Given the description of an element on the screen output the (x, y) to click on. 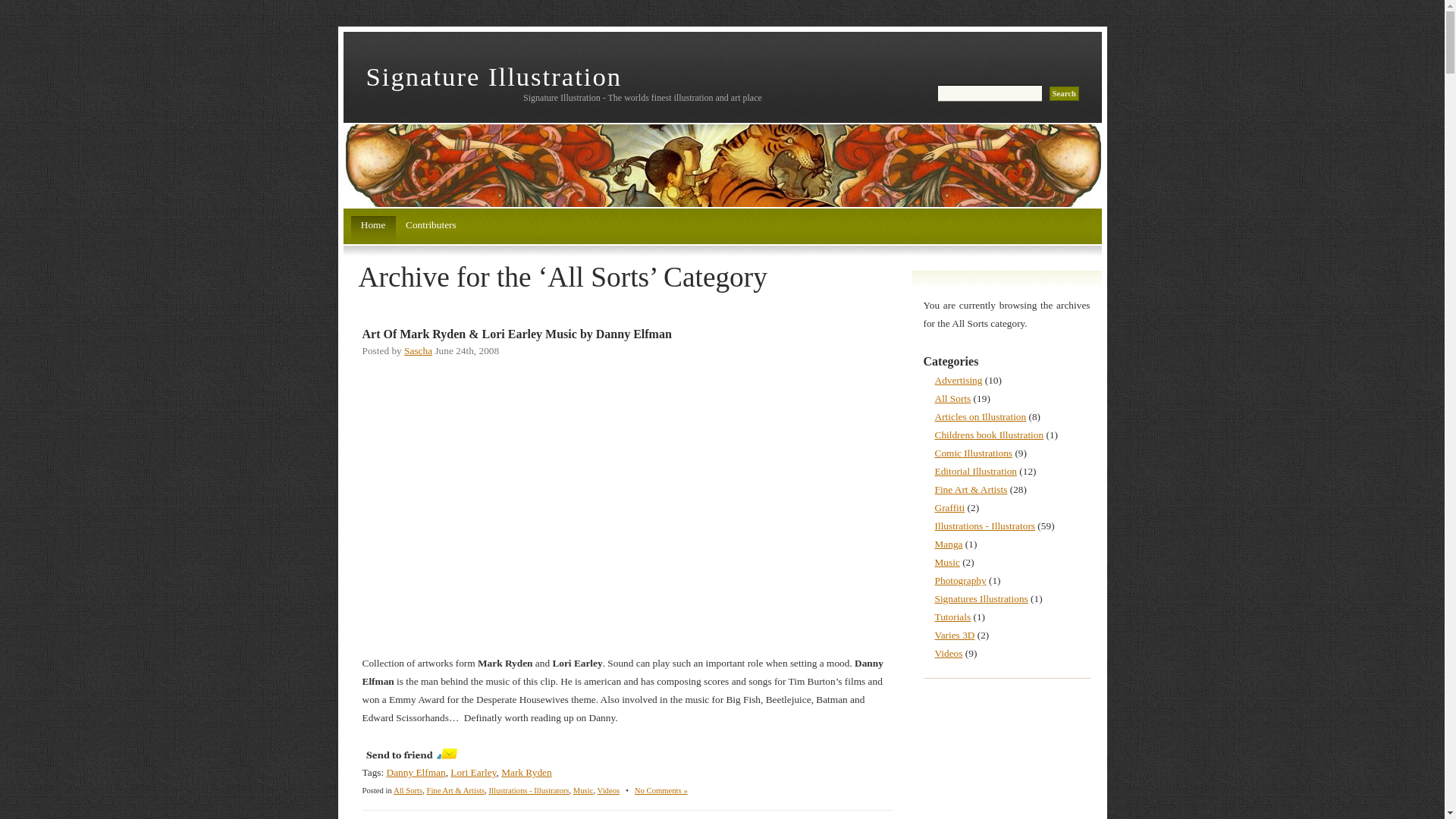
All Sorts (407, 790)
Lori Earley (472, 772)
Danny Elfman (416, 772)
Search (1063, 92)
Signature Illustration (493, 76)
Music (583, 790)
View all posts in Videos (608, 790)
Contributers (430, 229)
Share This Post (410, 753)
Home (372, 229)
